Given the description of an element on the screen output the (x, y) to click on. 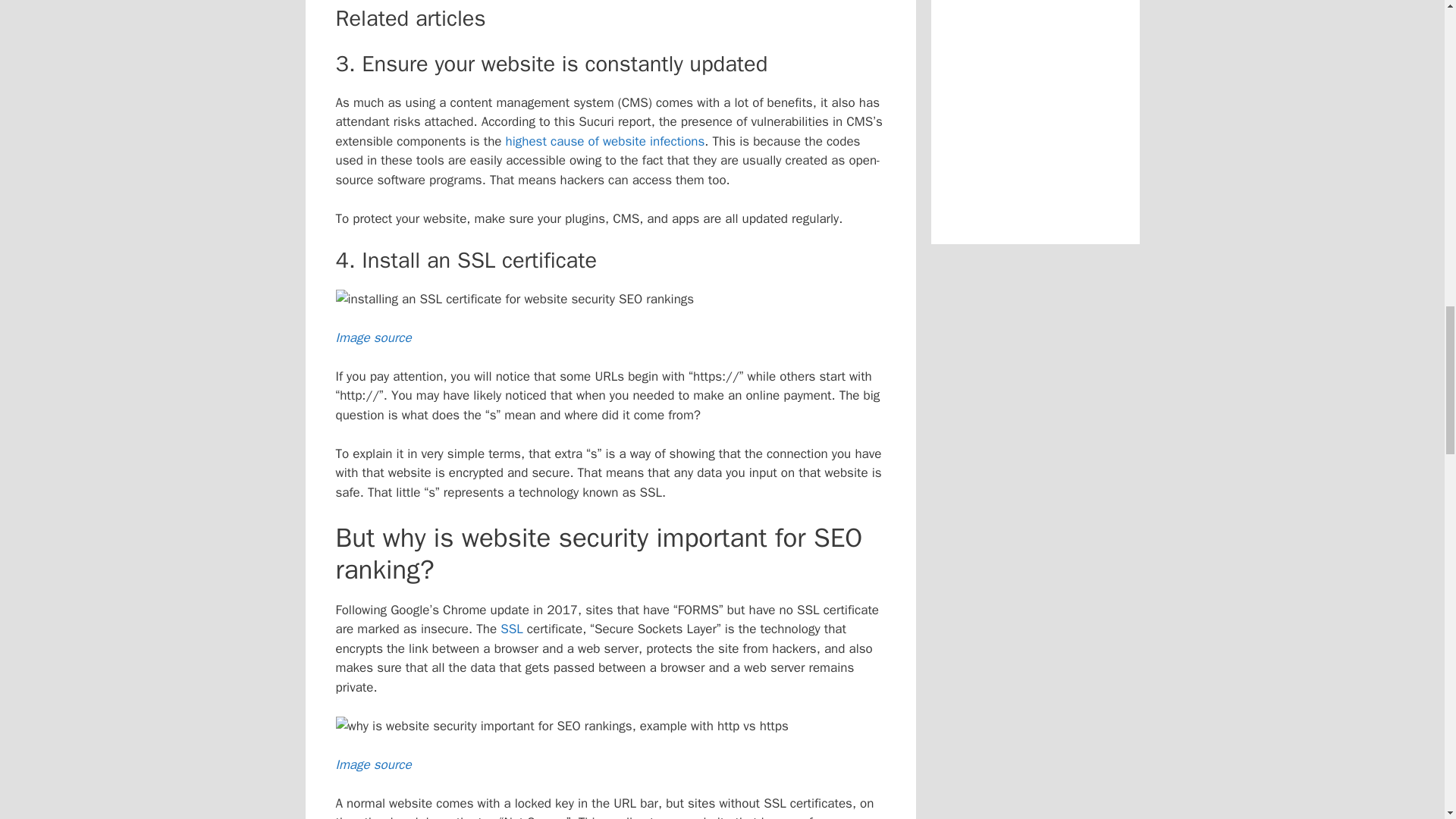
Image source (372, 337)
SSL (511, 628)
highest cause of website infections (604, 141)
Image source (372, 764)
